Given the description of an element on the screen output the (x, y) to click on. 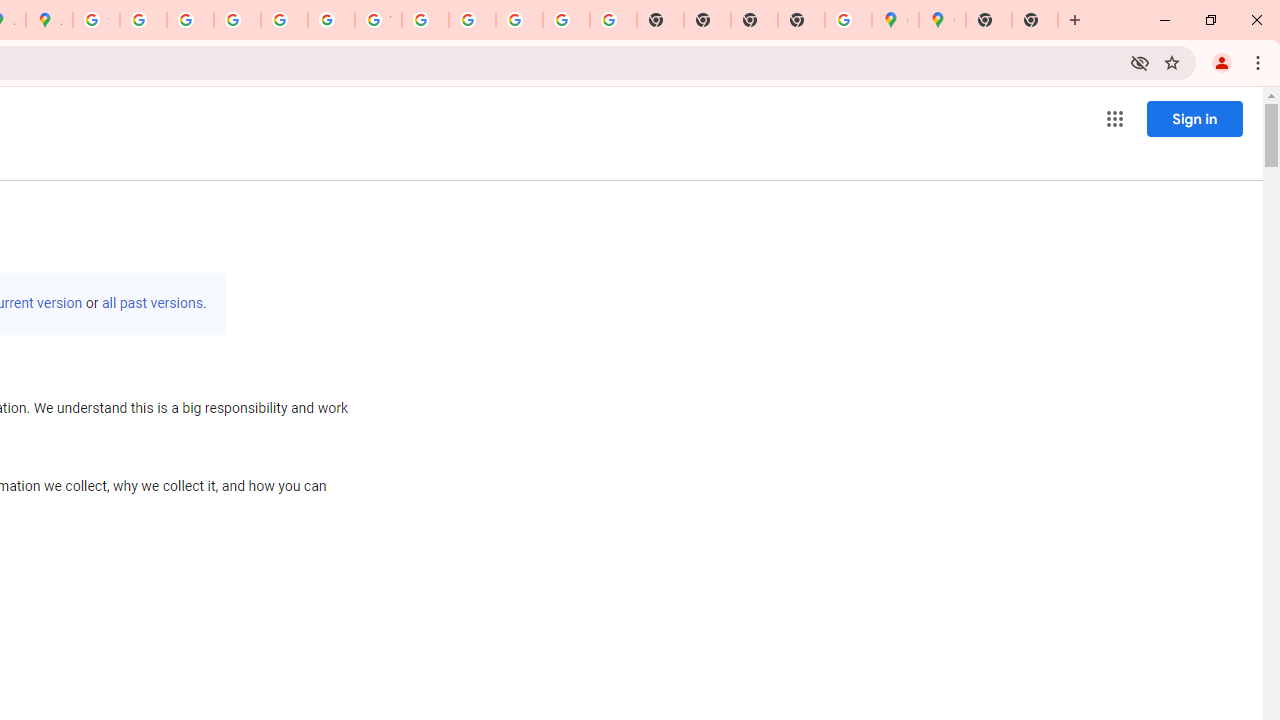
New Tab (989, 20)
Google Maps (895, 20)
Privacy Help Center - Policies Help (189, 20)
YouTube (377, 20)
Sign in - Google Accounts (96, 20)
